Given the description of an element on the screen output the (x, y) to click on. 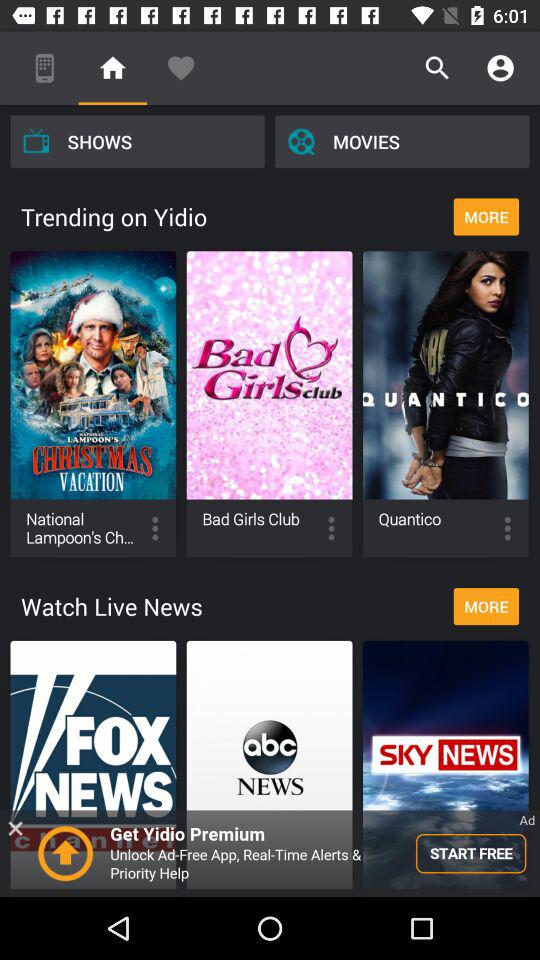
flip until shows icon (137, 141)
